Given the description of an element on the screen output the (x, y) to click on. 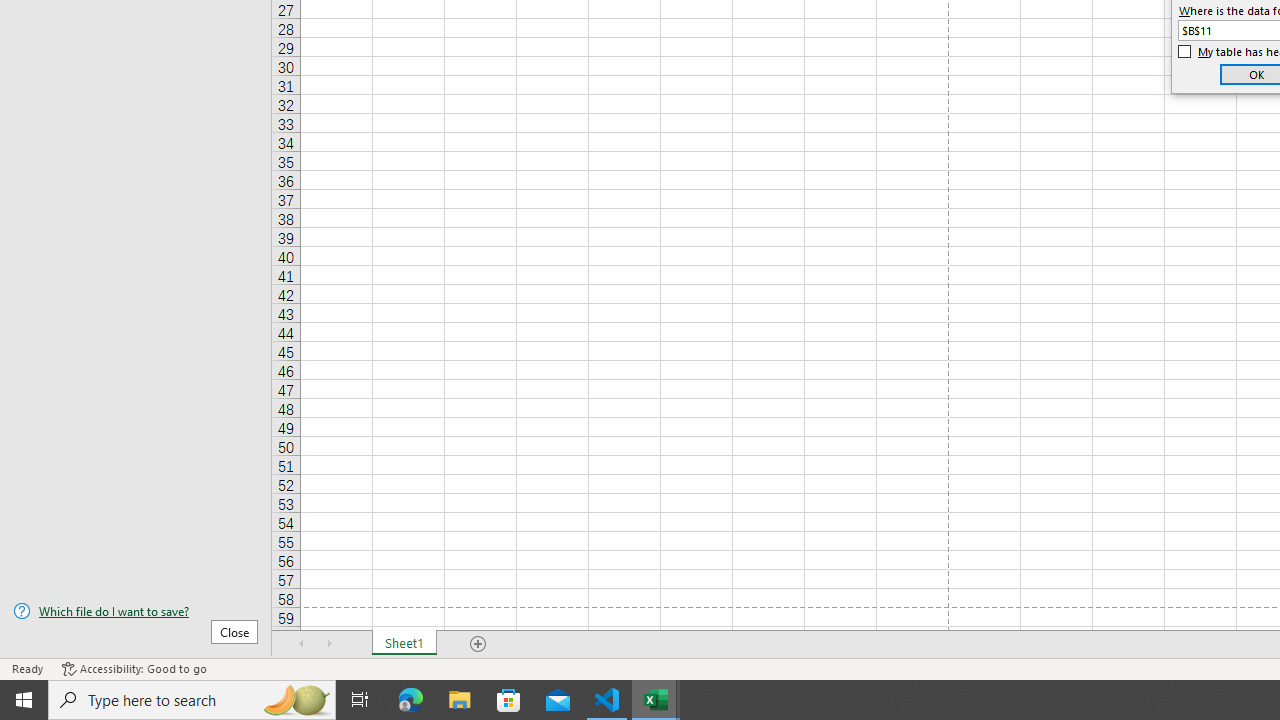
Which file do I want to save? (136, 611)
Close (234, 631)
Accessibility Checker Accessibility: Good to go (134, 668)
Add Sheet (478, 644)
Scroll Right (330, 644)
Scroll Left (302, 644)
Sheet1 (404, 644)
